Given the description of an element on the screen output the (x, y) to click on. 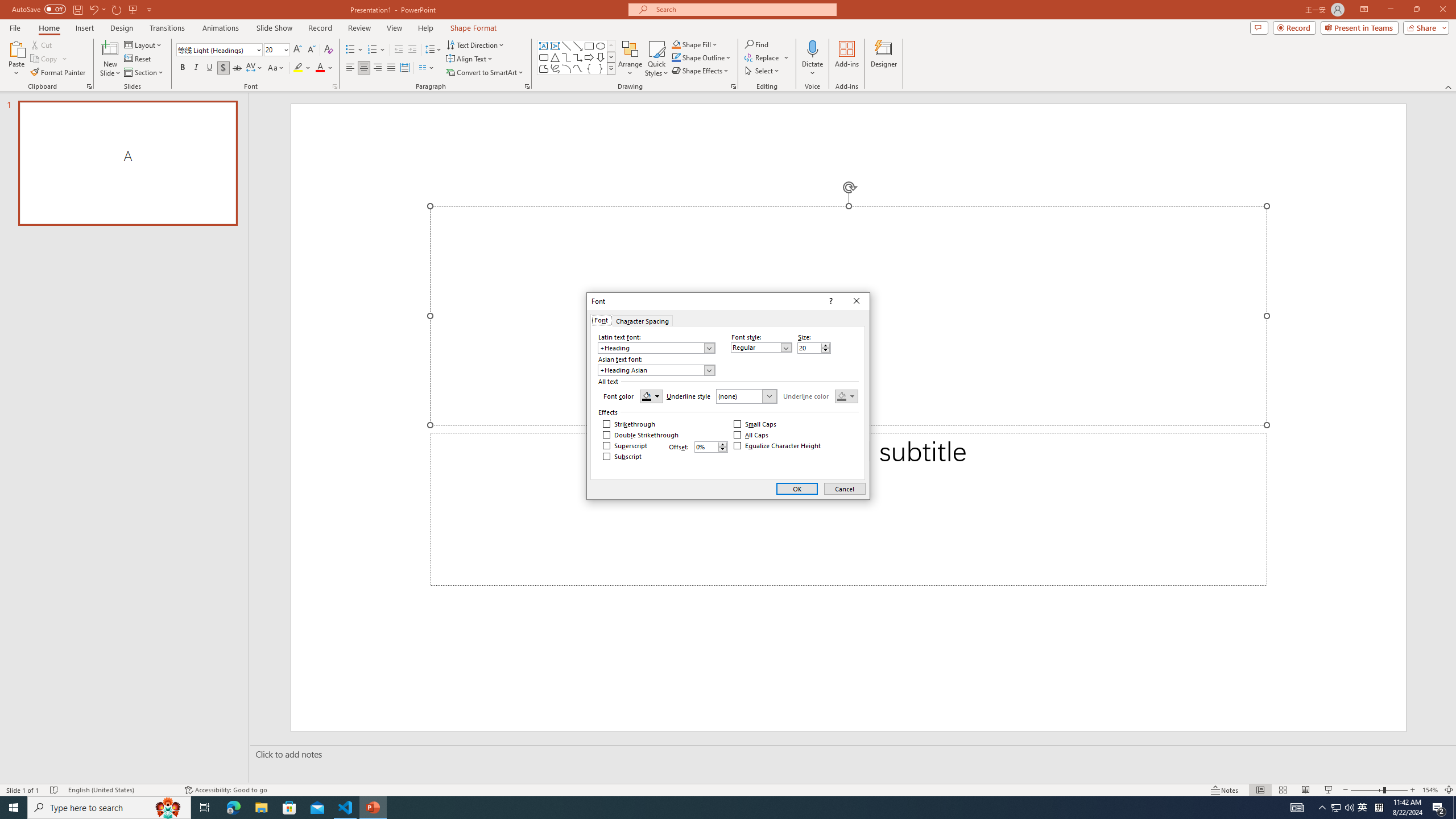
Dictate (812, 58)
Row up (611, 45)
Line (566, 45)
Isosceles Triangle (554, 57)
Size (809, 347)
Freeform: Scribble (554, 68)
Font Color Red (320, 67)
Character Spacing (641, 319)
Action Center, 2 new notifications (1439, 807)
Strikethrough (629, 424)
Designer (883, 58)
